Given the description of an element on the screen output the (x, y) to click on. 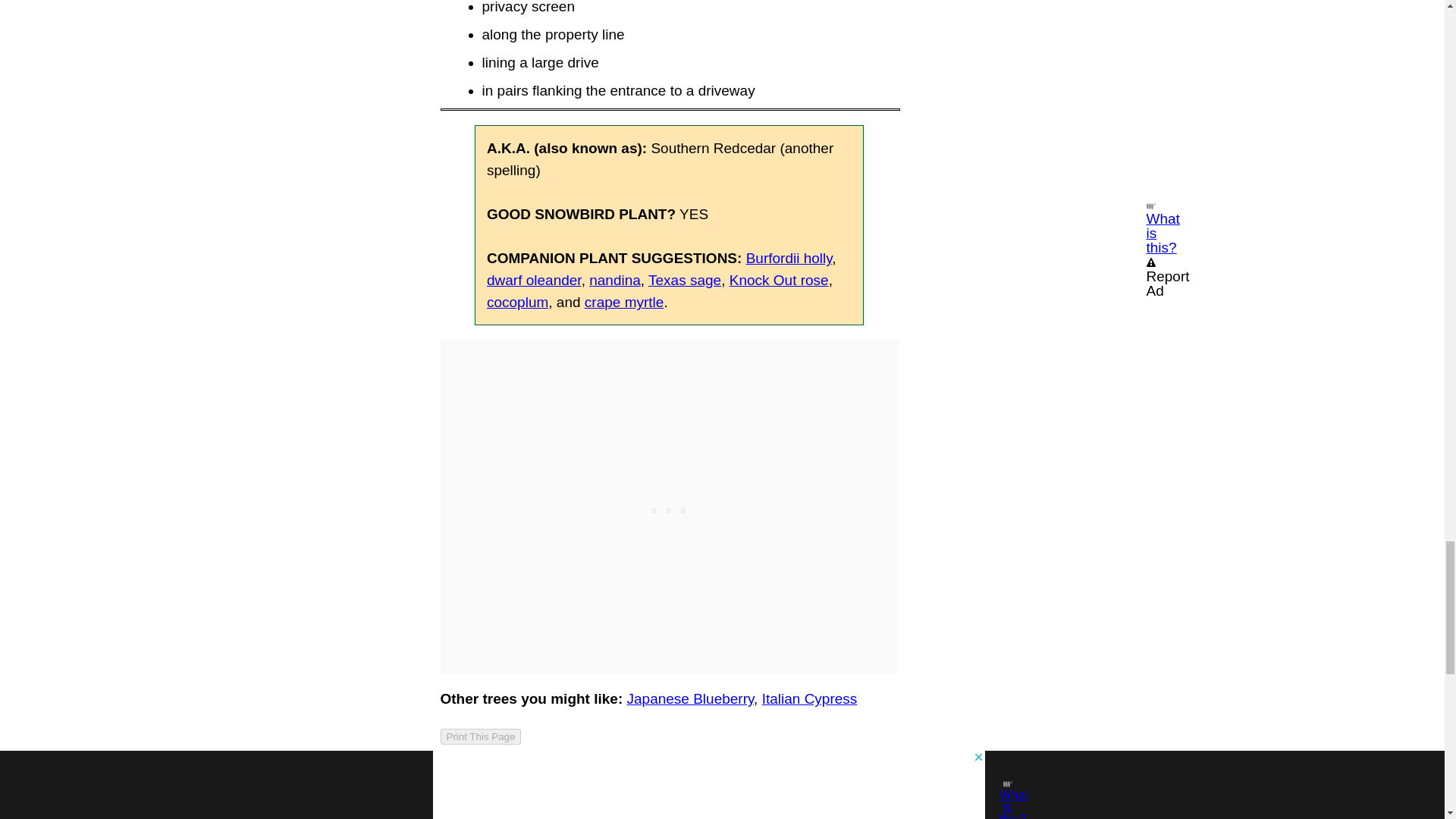
dwarf oleander (533, 279)
Japanese Blueberry (690, 698)
Knock Out rose (778, 279)
Burfordii holly (788, 258)
Southern Red Cedar (669, 772)
nandina (614, 279)
Accent Trees (544, 772)
Texas sage (683, 279)
crape myrtle (624, 302)
Print This Page (480, 736)
cocoplum (517, 302)
Italian Cypress (809, 698)
Home (466, 772)
